Given the description of an element on the screen output the (x, y) to click on. 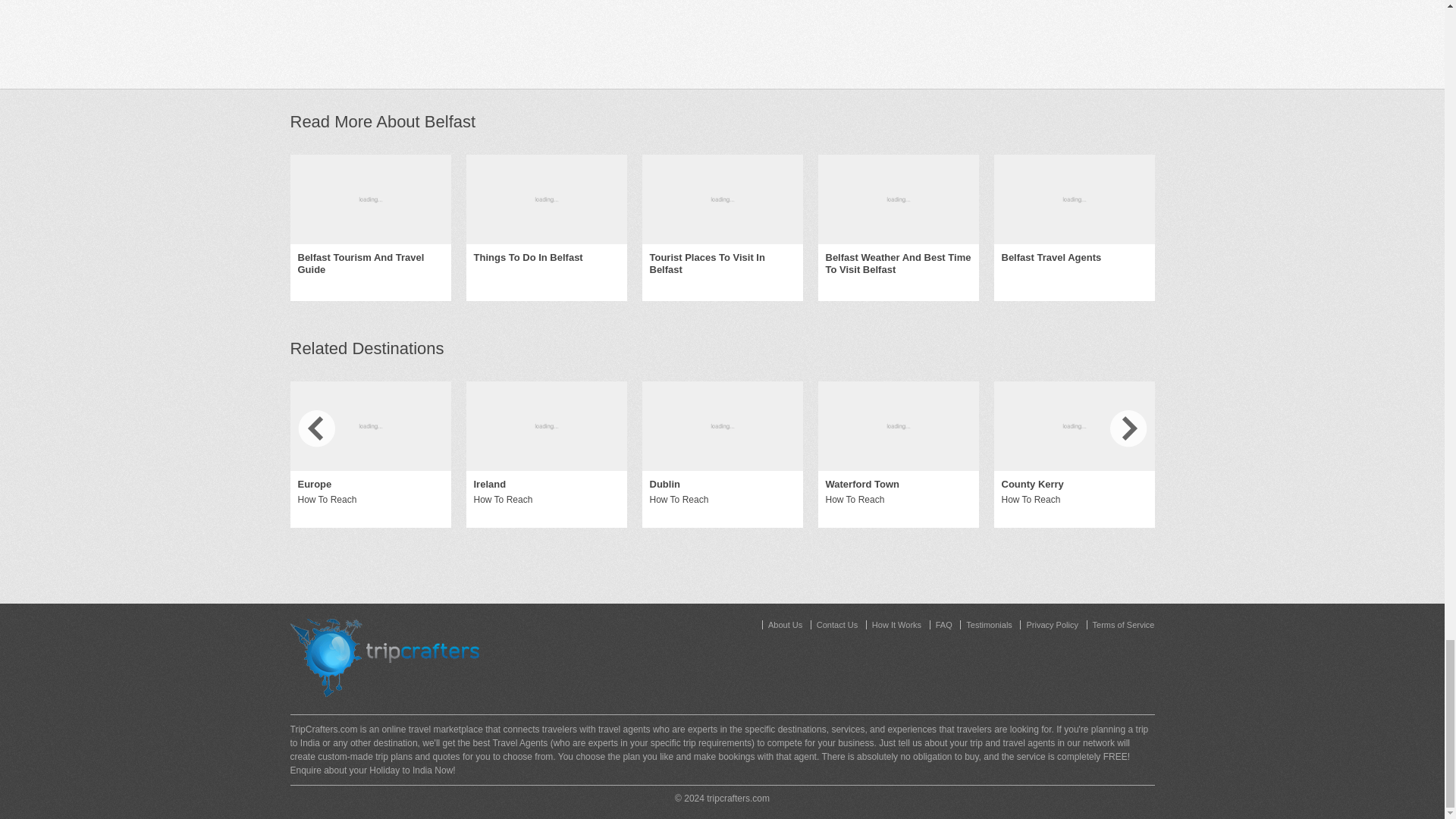
Belfast Travel Agents (1050, 257)
Things To Do In Belfast (527, 257)
Belfast Weather And Best Time To Visit Belfast (898, 264)
Tourist Places To Visit In Belfast (721, 264)
Belfast Tourism And Travel Guide (369, 264)
Belfast Tourism And Travel Guide (369, 199)
